Given the description of an element on the screen output the (x, y) to click on. 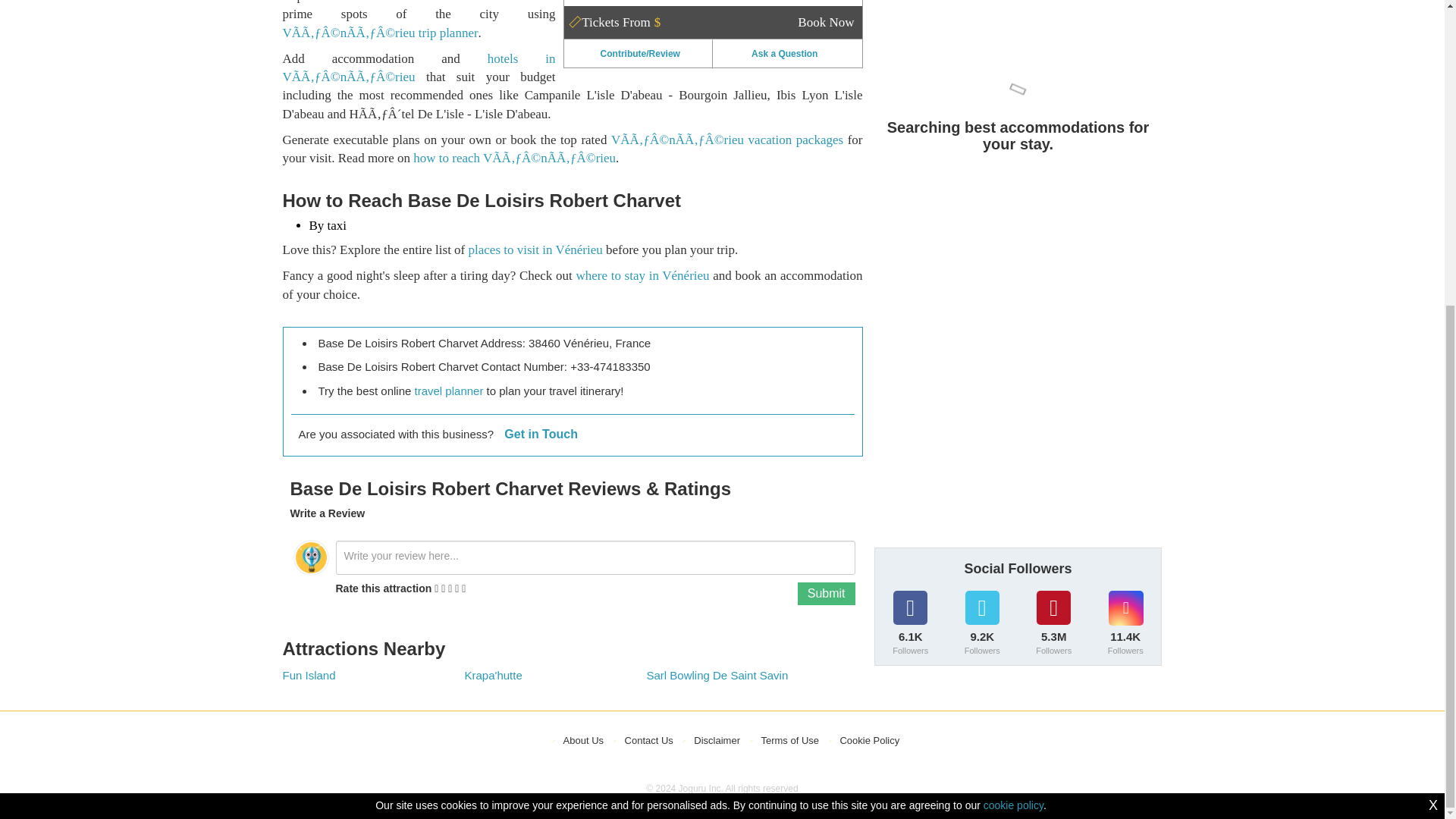
Disclaimer (716, 740)
Submit (826, 593)
About Us (583, 740)
travel planner (448, 390)
Sarl Bowling De Saint Savin (716, 675)
cookie policy (1013, 324)
Contact Us (648, 740)
Book Now (825, 22)
Krapa'hutte (492, 675)
Get in Touch (540, 433)
